Given the description of an element on the screen output the (x, y) to click on. 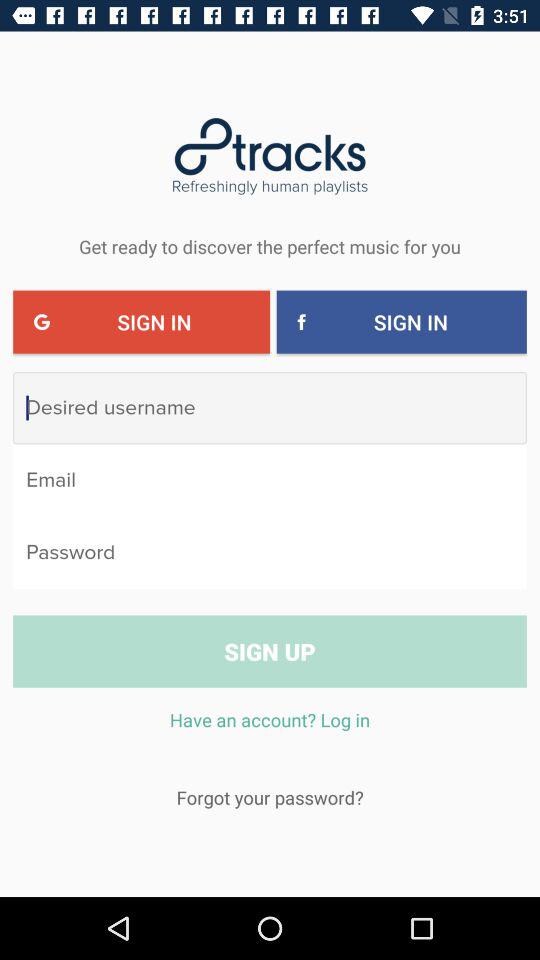
swipe until the forgot your password? item (269, 797)
